Given the description of an element on the screen output the (x, y) to click on. 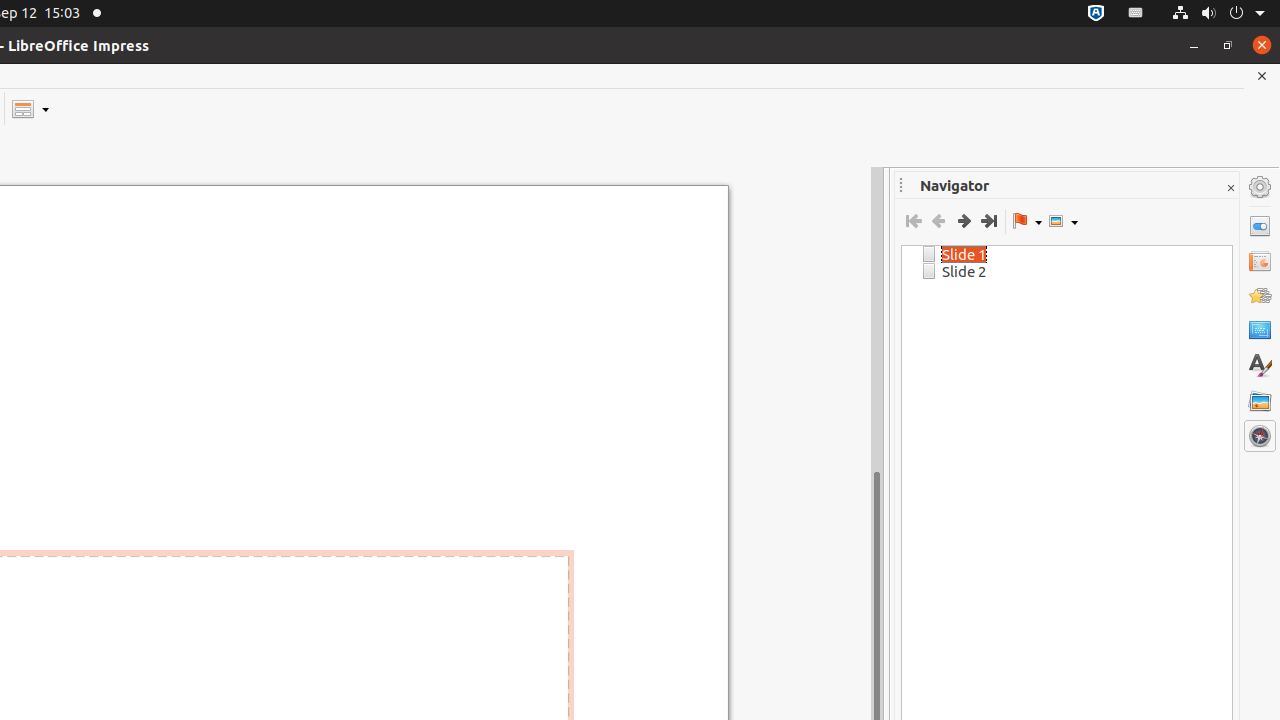
Gallery Element type: radio-button (1260, 401)
Close Sidebar Deck Element type: push-button (1230, 188)
